Given the description of an element on the screen output the (x, y) to click on. 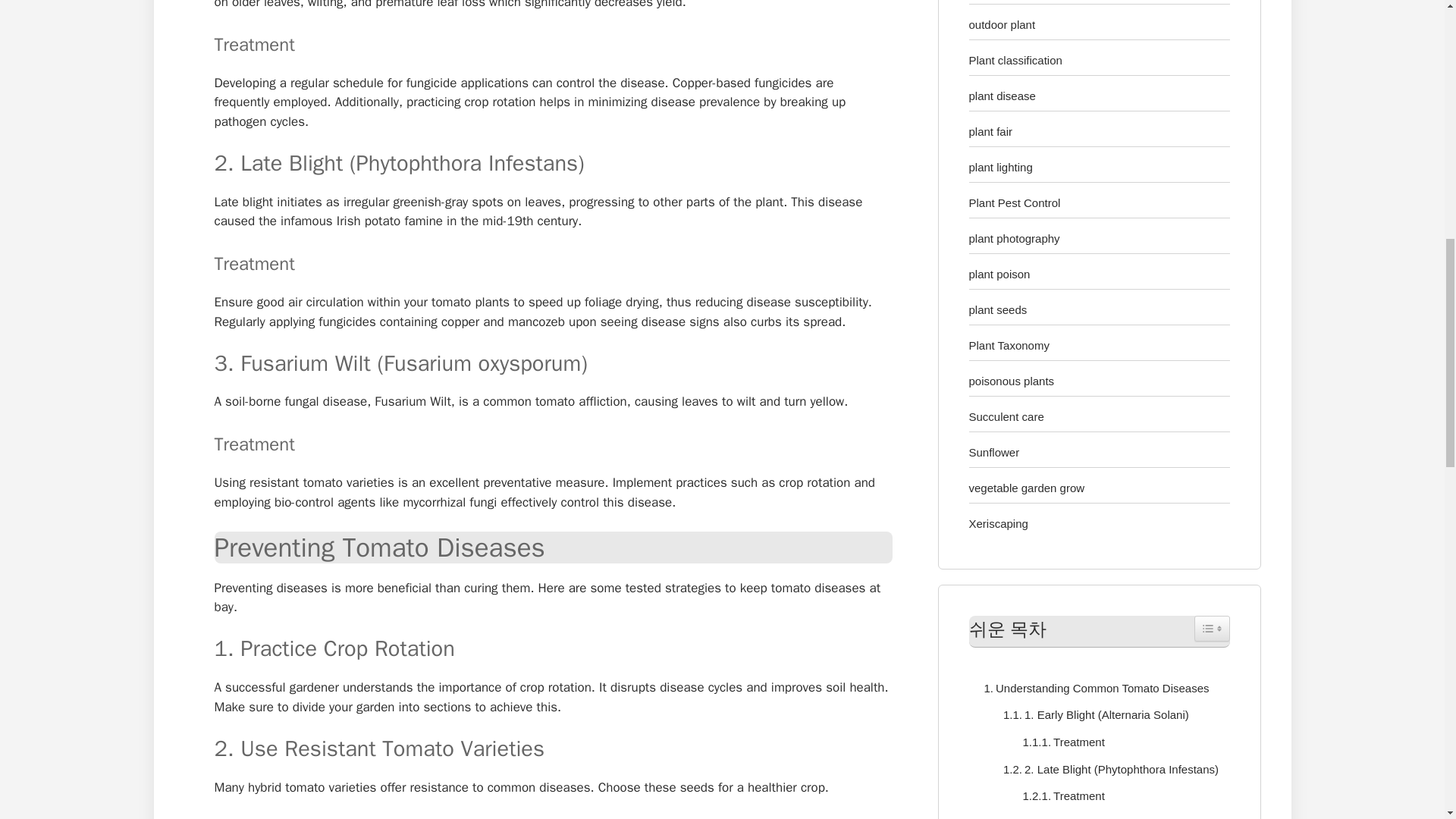
Understanding Common Tomato Diseases (1092, 688)
